Given the description of an element on the screen output the (x, y) to click on. 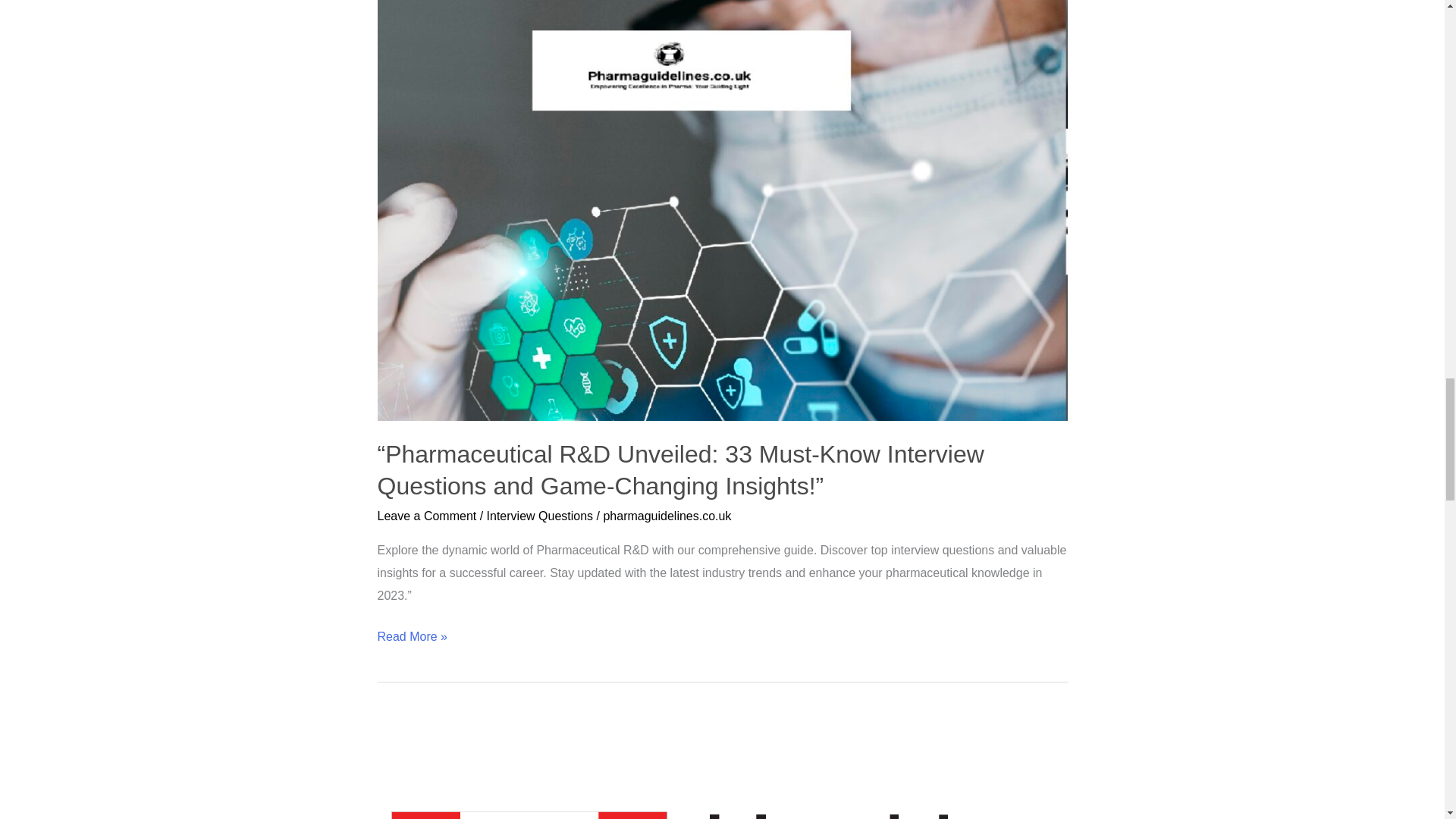
View all posts by pharmaguidelines.co.uk (666, 515)
Interview Questions (540, 515)
pharmaguidelines.co.uk (666, 515)
Leave a Comment (427, 515)
